Given the description of an element on the screen output the (x, y) to click on. 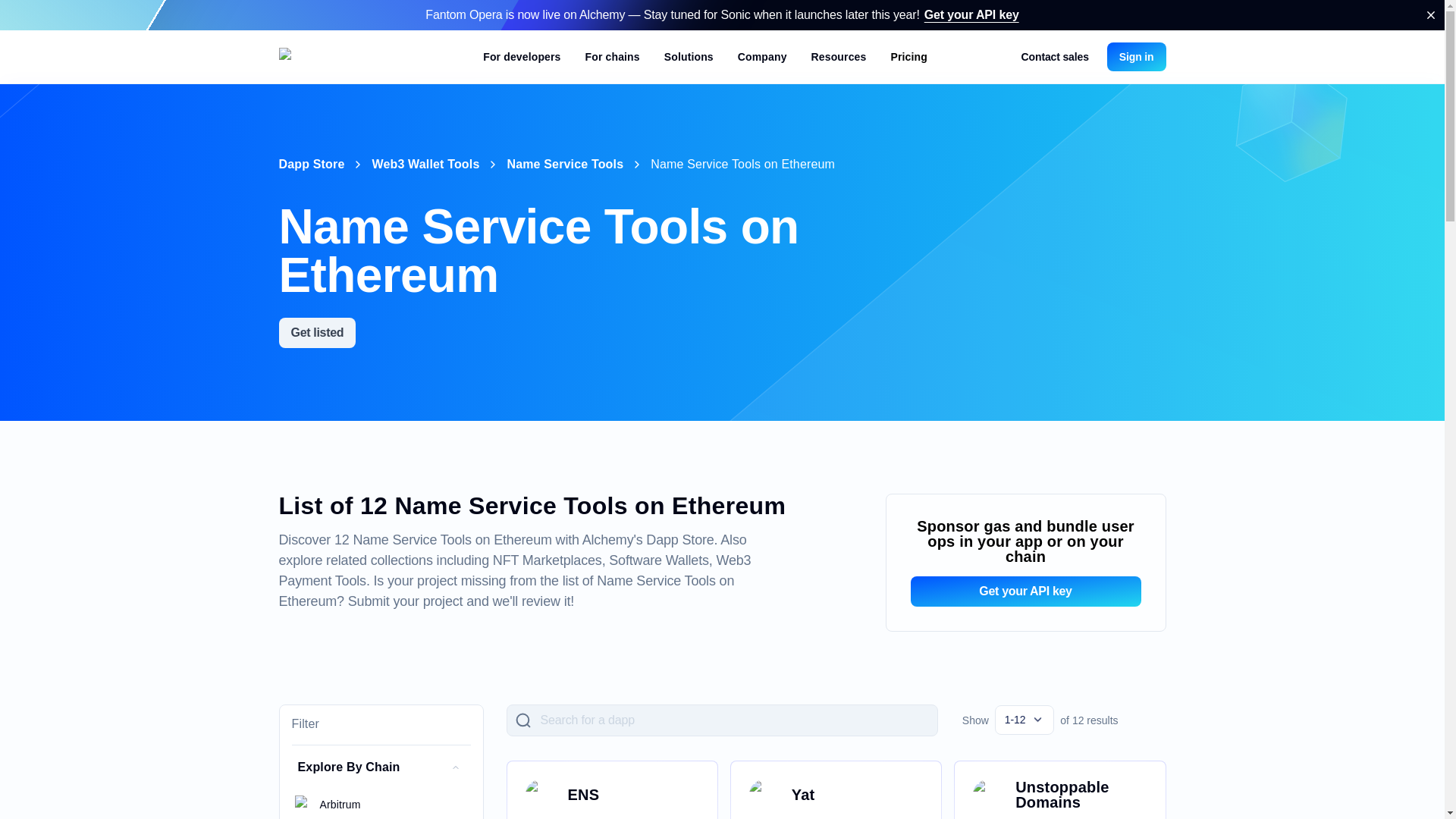
Get your API key (971, 14)
